Given the description of an element on the screen output the (x, y) to click on. 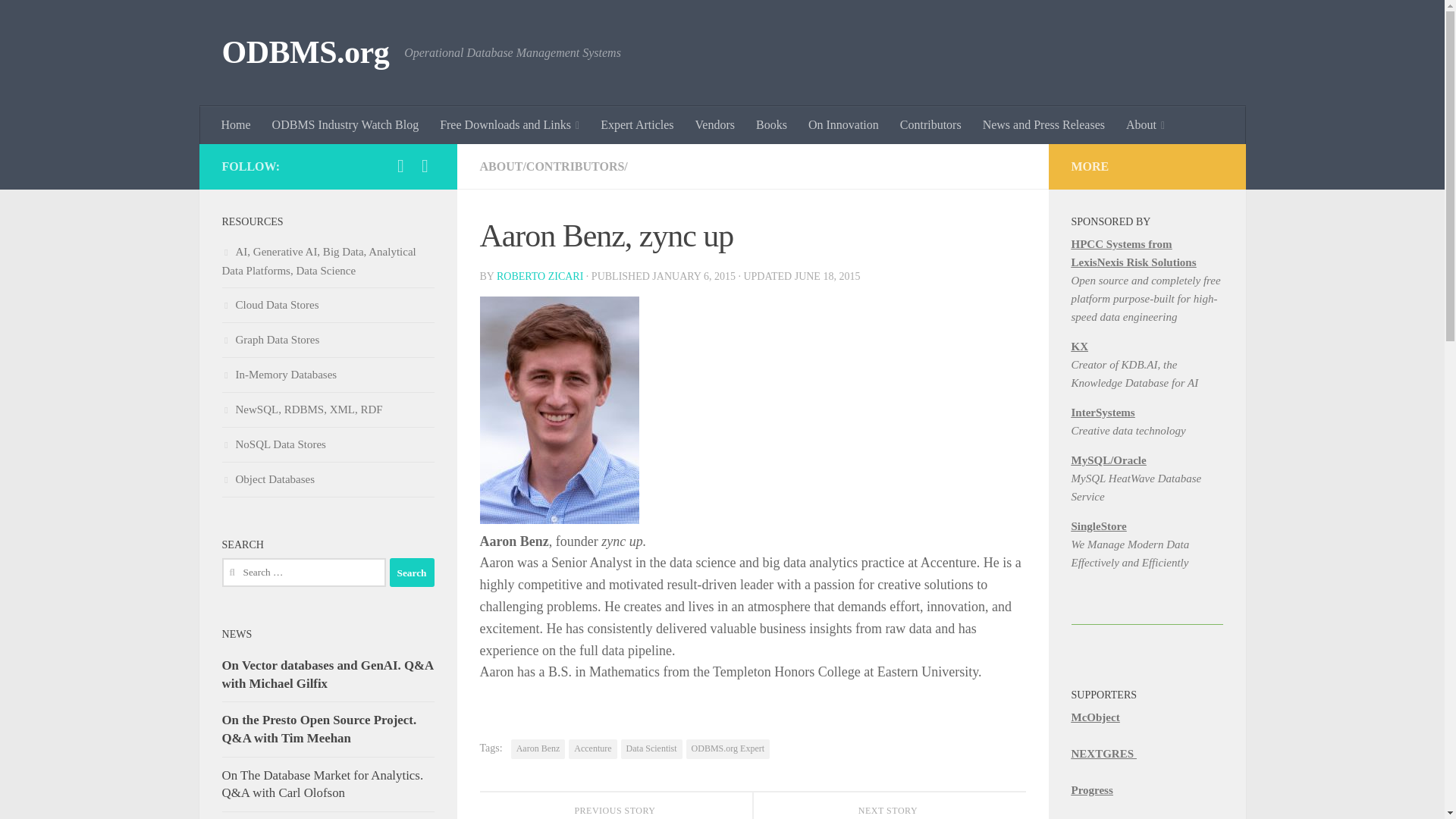
Skip to content (59, 20)
ODBMS.org (304, 53)
ODBMS Industry Watch Blog (345, 125)
Search (411, 572)
Free Downloads and Links (509, 125)
Home (236, 125)
Posts by Roberto Zicari (539, 276)
RSS (423, 166)
Search (411, 572)
Twitter (400, 166)
